Given the description of an element on the screen output the (x, y) to click on. 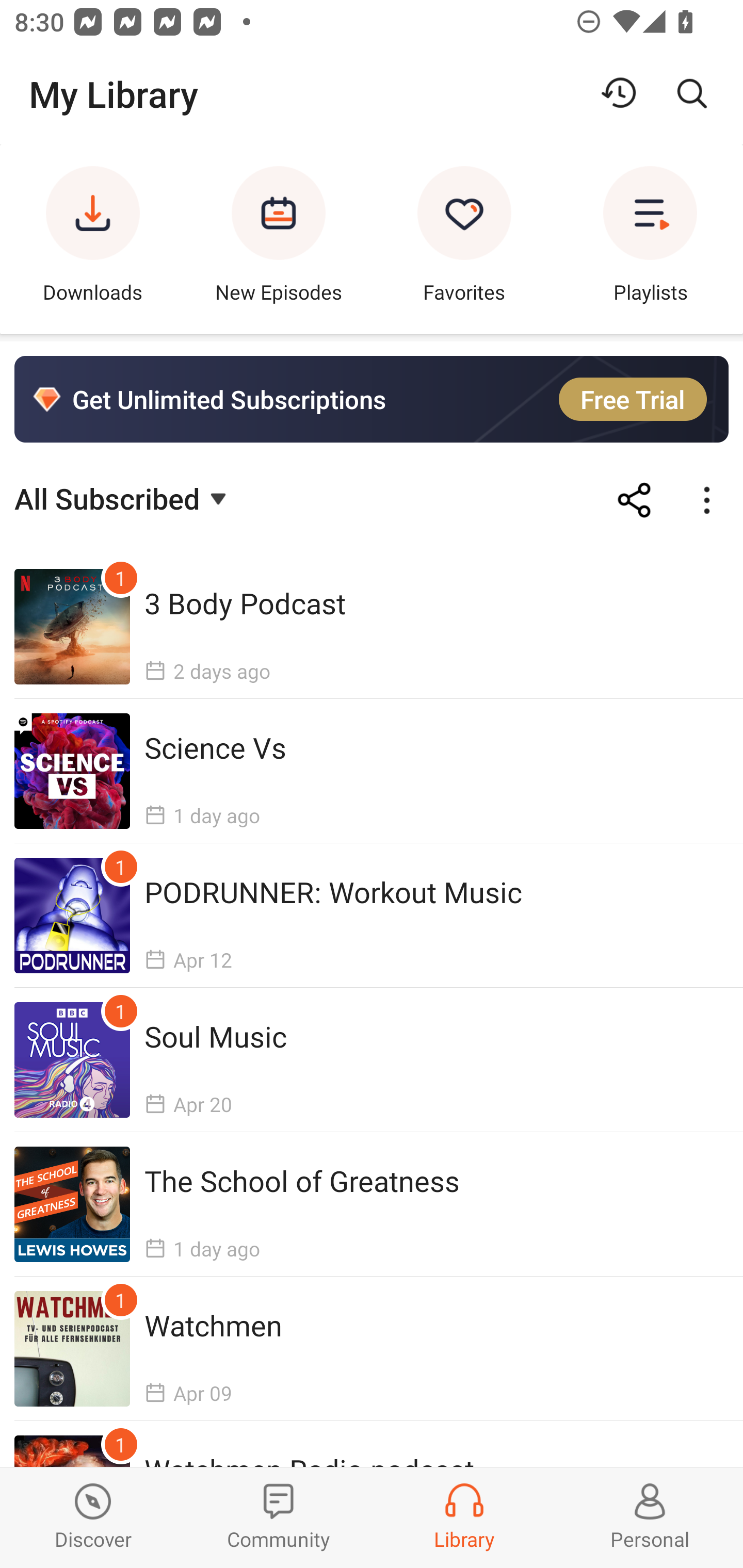
Downloads (92, 238)
New Episodes (278, 238)
Favorites (464, 238)
Playlists (650, 238)
Get Unlimited Subscriptions Free Trial (371, 398)
Free Trial (632, 398)
All Subscribed (123, 497)
3 Body Podcast 1 3 Body Podcast  2 days ago (371, 627)
Science Vs Science Vs  1 day ago (371, 771)
Soul Music 1 Soul Music  Apr 20 (371, 1059)
Watchmen 1 Watchmen  Apr 09 (371, 1348)
Discover (92, 1517)
Community (278, 1517)
Library (464, 1517)
Profiles and Settings Personal (650, 1517)
